Given the description of an element on the screen output the (x, y) to click on. 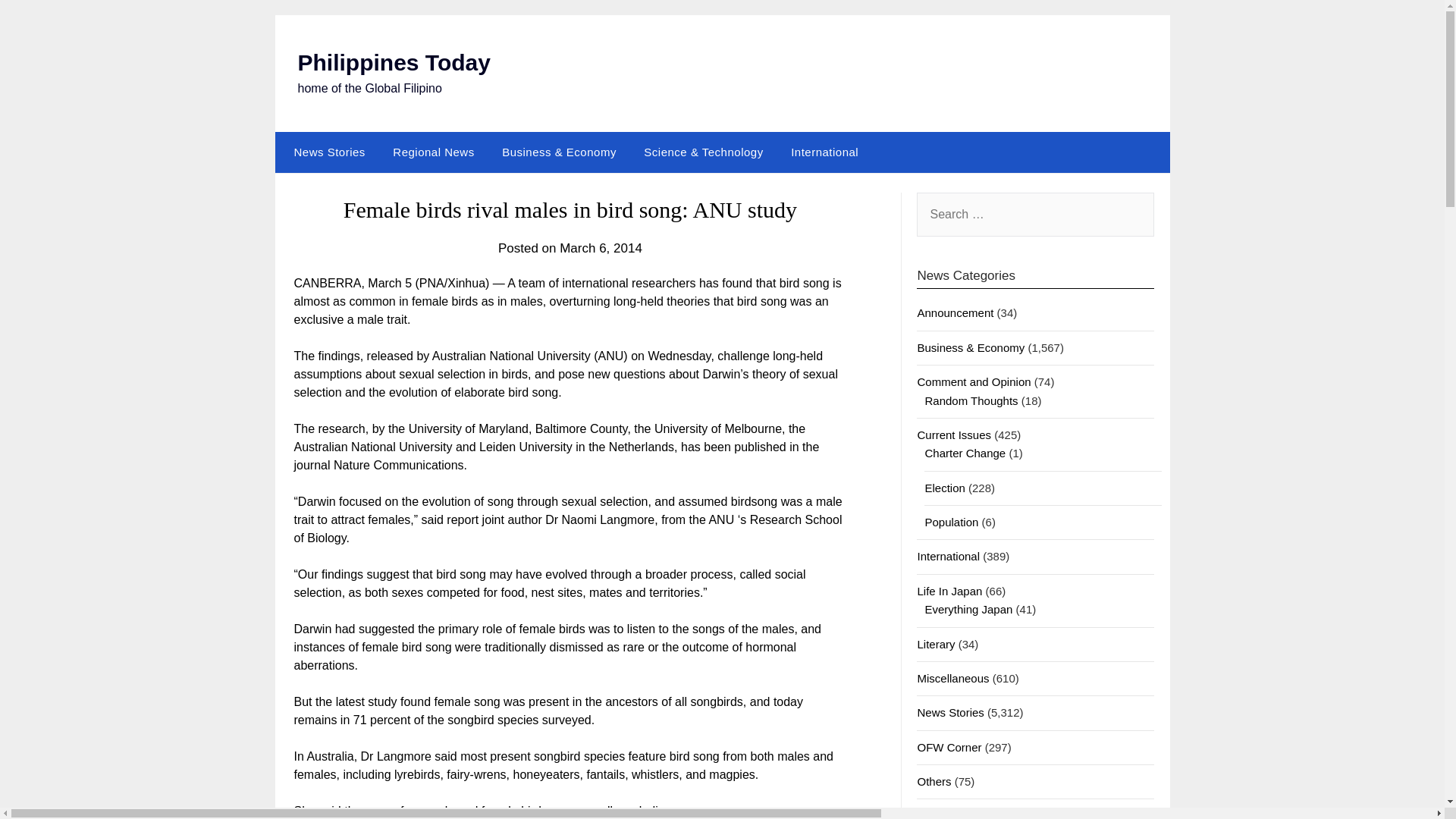
Miscellaneous (952, 677)
Search (38, 22)
Election (943, 487)
Announcement (954, 312)
News Stories (326, 151)
Random Thoughts (970, 400)
Literary (936, 644)
News Stories (950, 712)
Regional News (433, 151)
Philippines Today (393, 62)
Life In Japan (949, 590)
People (934, 814)
OFW Corner (949, 747)
Charter Change (965, 452)
Everything Japan (967, 608)
